Given the description of an element on the screen output the (x, y) to click on. 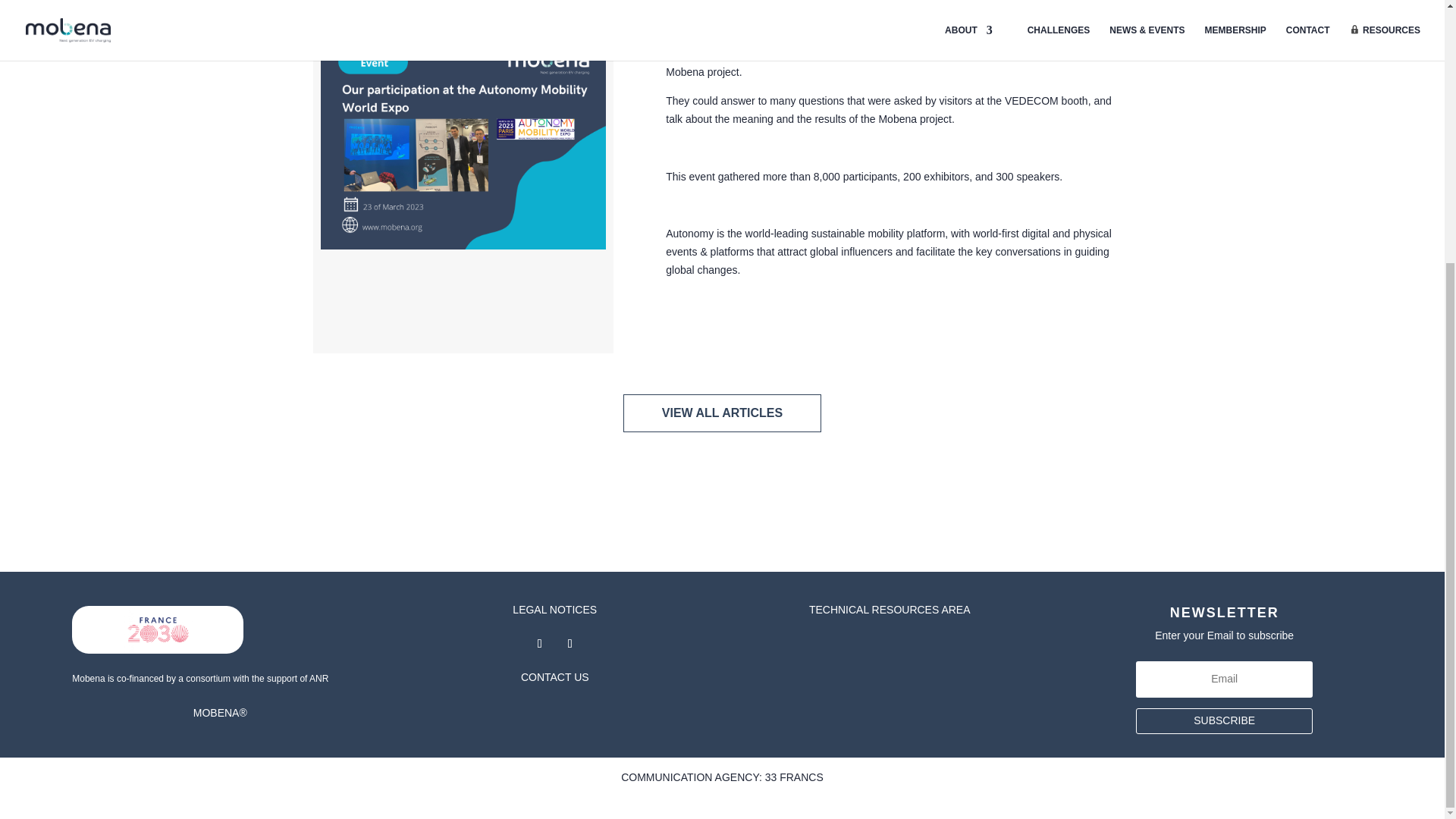
LEGAL NOTICES (554, 609)
DOWNLOAD THE MOBENA PRESENTATION (894, 333)
CONTACT US (555, 676)
Follow on LinkedIn (539, 643)
ANR (318, 678)
COMMUNICATION AGENCY: 33 FRANCS (722, 776)
VIEW ALL ARTICLES (722, 412)
Follow on X (569, 643)
SUBSCRIBE (1224, 720)
